Given the description of an element on the screen output the (x, y) to click on. 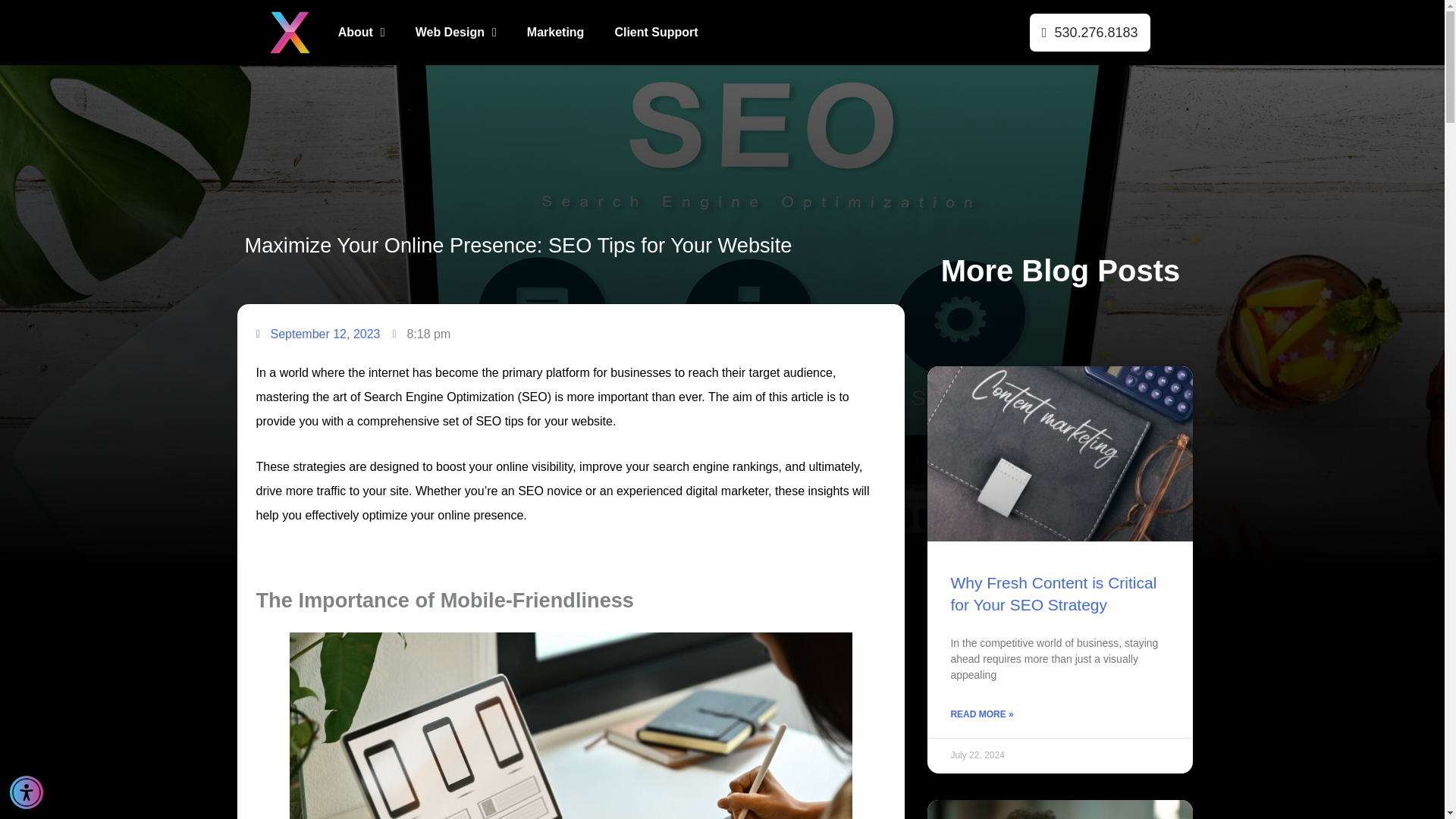
Web Design (456, 32)
Accessibility Menu (26, 792)
Web Design (456, 32)
About (361, 32)
530.276.8183 (1089, 35)
Marketing (555, 32)
About Next Level Web Design (361, 32)
Marketing (555, 32)
September 12, 2023 (318, 333)
Client Support (655, 32)
Next Level Web Design (288, 32)
Client Support (655, 32)
